Given the description of an element on the screen output the (x, y) to click on. 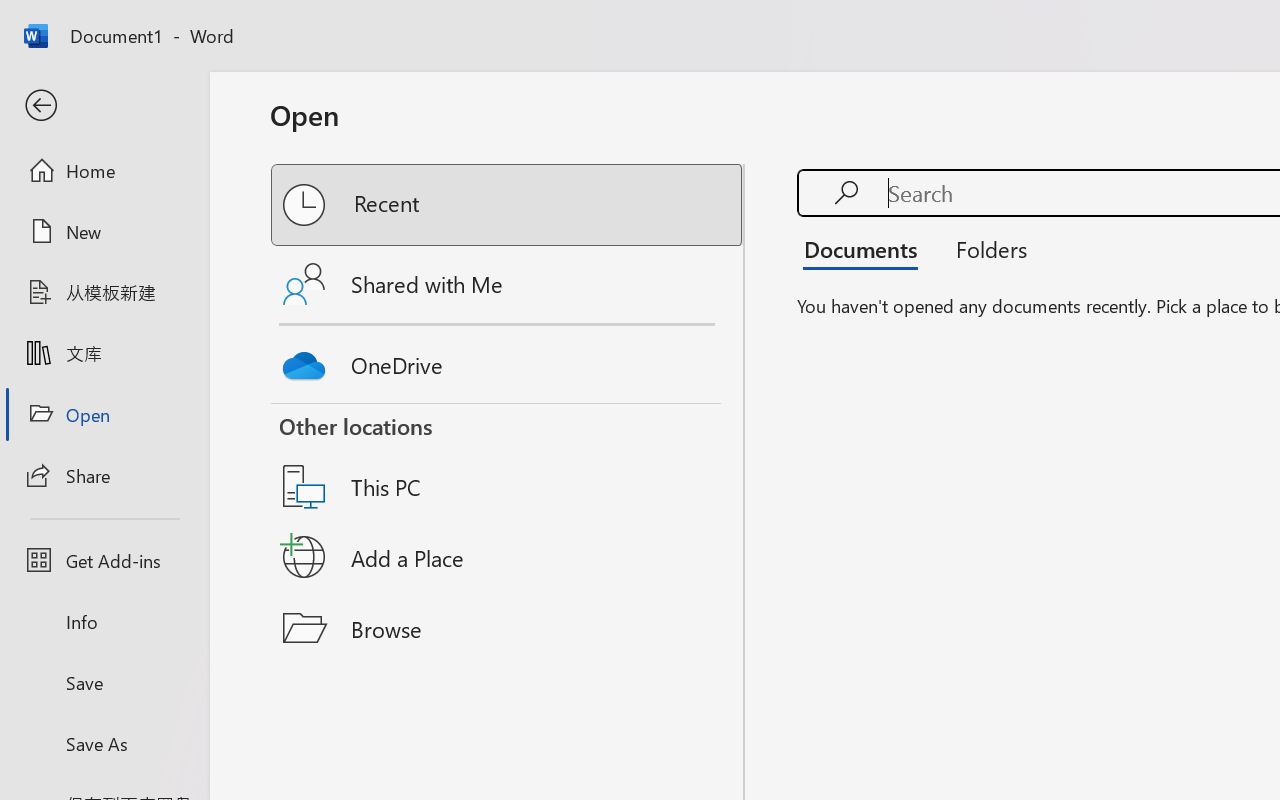
Folders (984, 248)
Info (104, 621)
Shared with Me (507, 283)
Get Add-ins (104, 560)
Browse (507, 627)
OneDrive (507, 359)
Recent (507, 205)
Documents (866, 248)
This PC (507, 461)
Save As (104, 743)
